Given the description of an element on the screen output the (x, y) to click on. 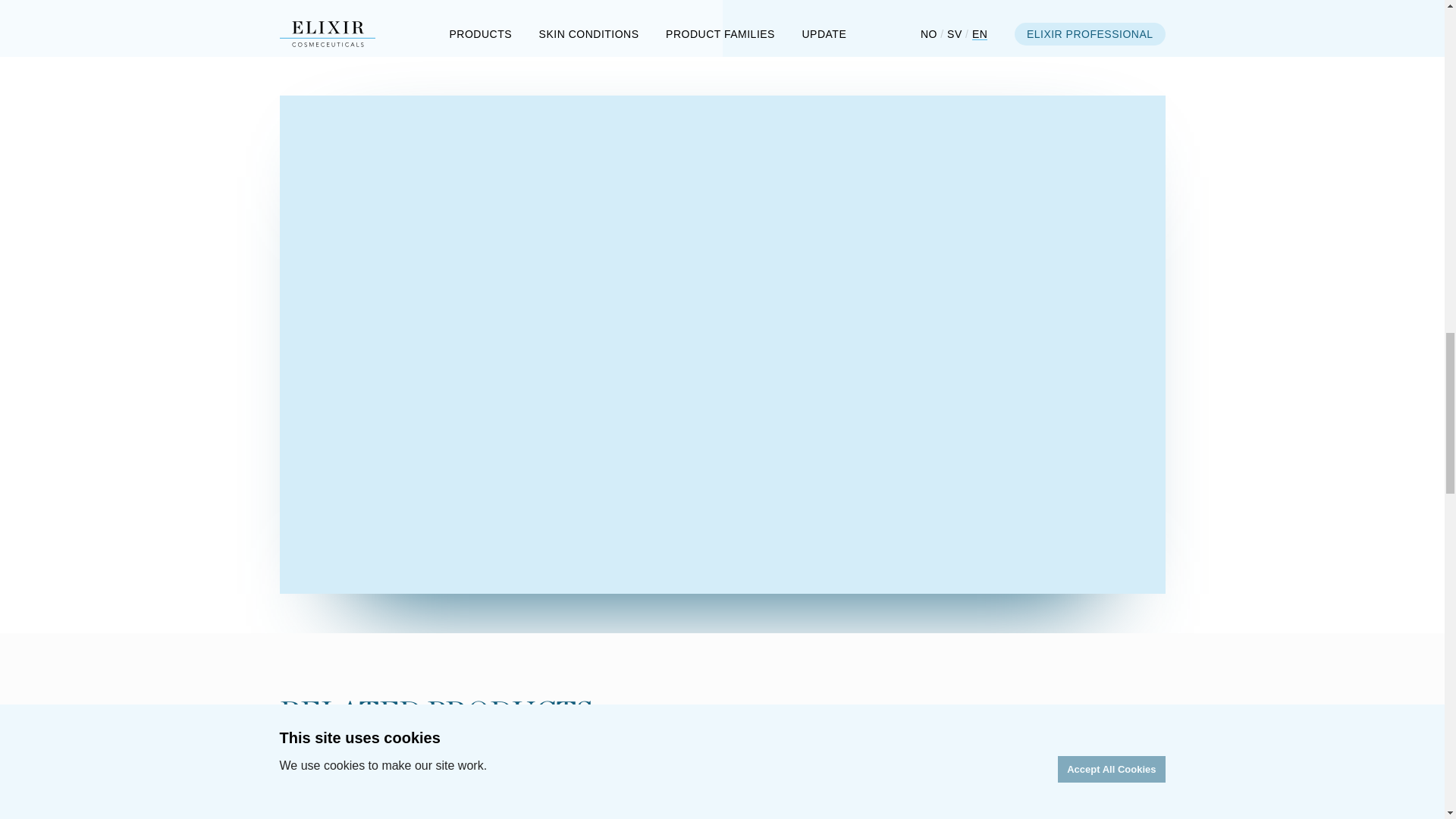
Daily Gel Cleanser (414, 806)
Peptalk Lip Balm SPF 25 (710, 806)
